Given the description of an element on the screen output the (x, y) to click on. 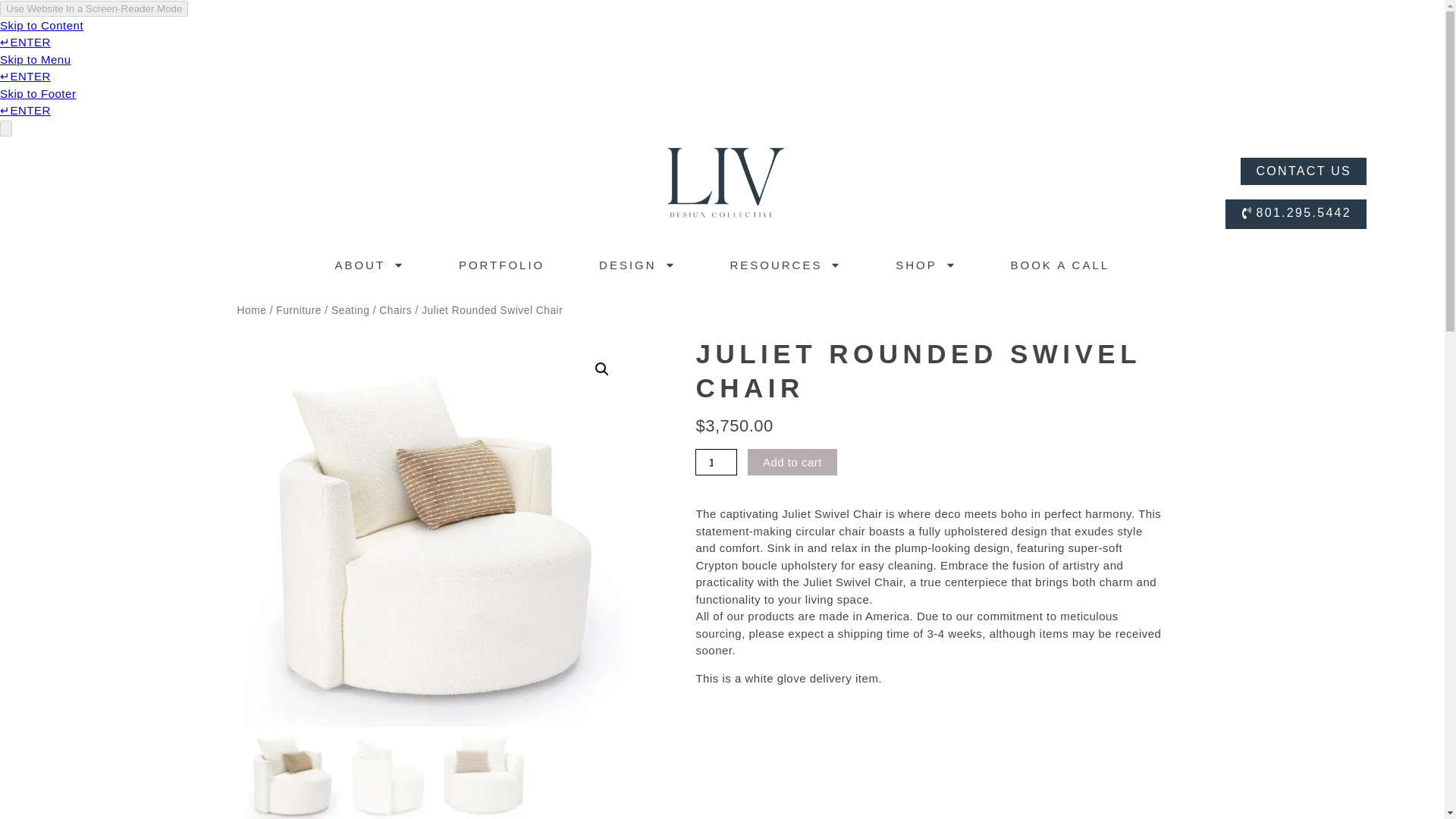
RESOURCES (784, 264)
ABOUT (368, 264)
BOOK A CALL (1060, 264)
SHOP (924, 264)
801.295.5442 (1295, 213)
1 (715, 461)
PORTFOLIO (501, 264)
CONTACT US (1303, 171)
